Given the description of an element on the screen output the (x, y) to click on. 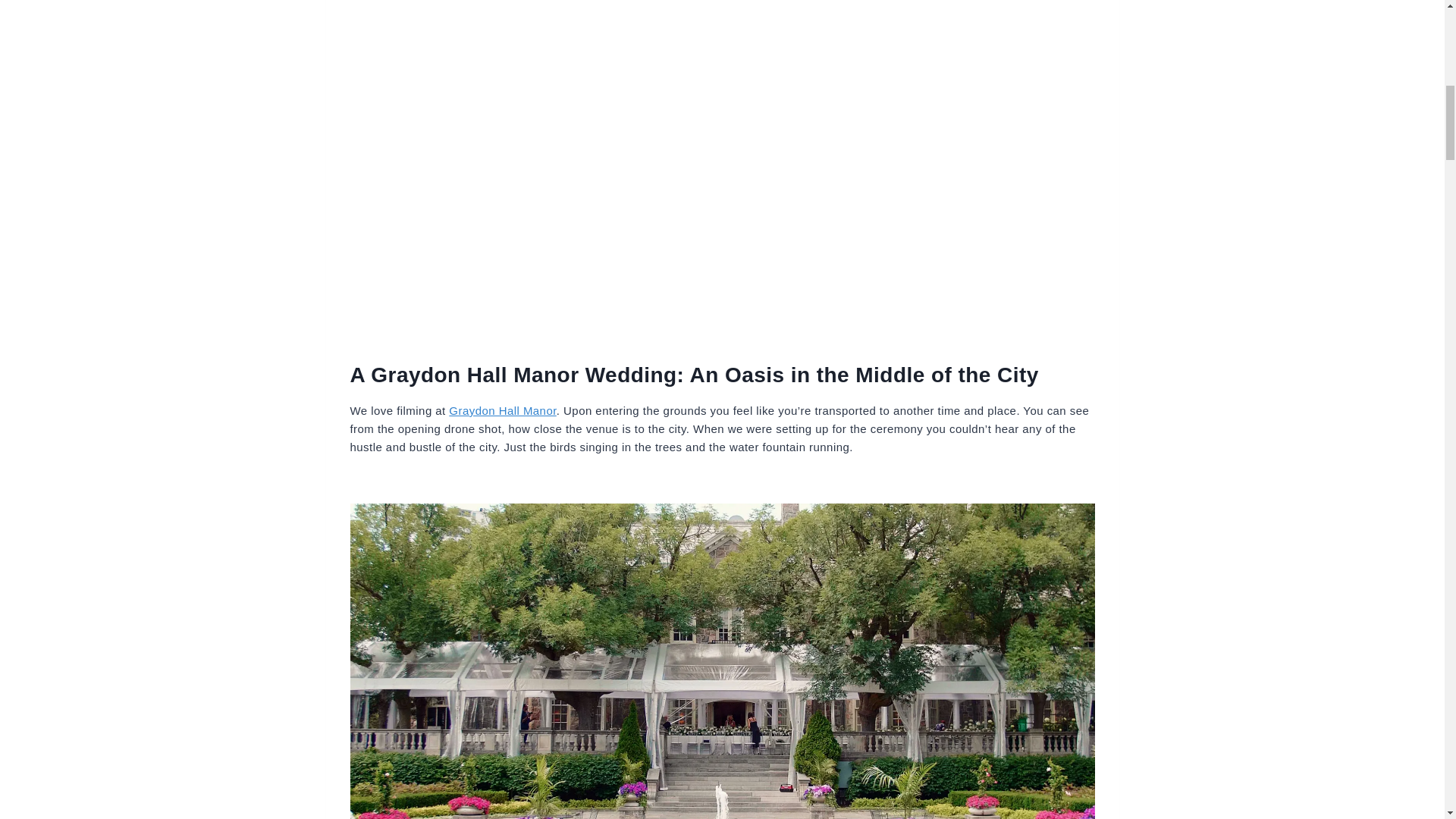
Graydon Hall Manor (502, 410)
